Given the description of an element on the screen output the (x, y) to click on. 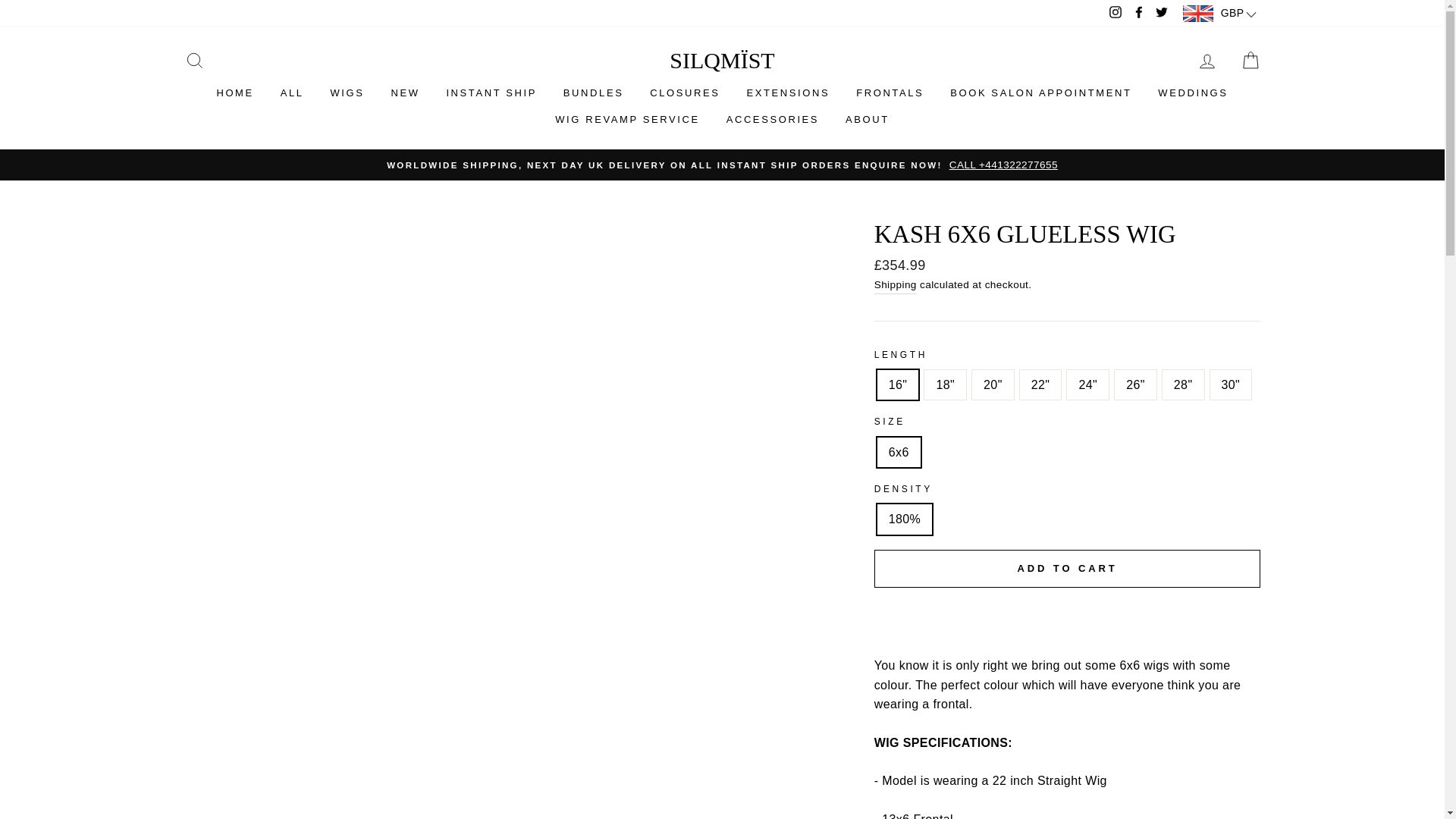
LOG IN (1207, 60)
